Given the description of an element on the screen output the (x, y) to click on. 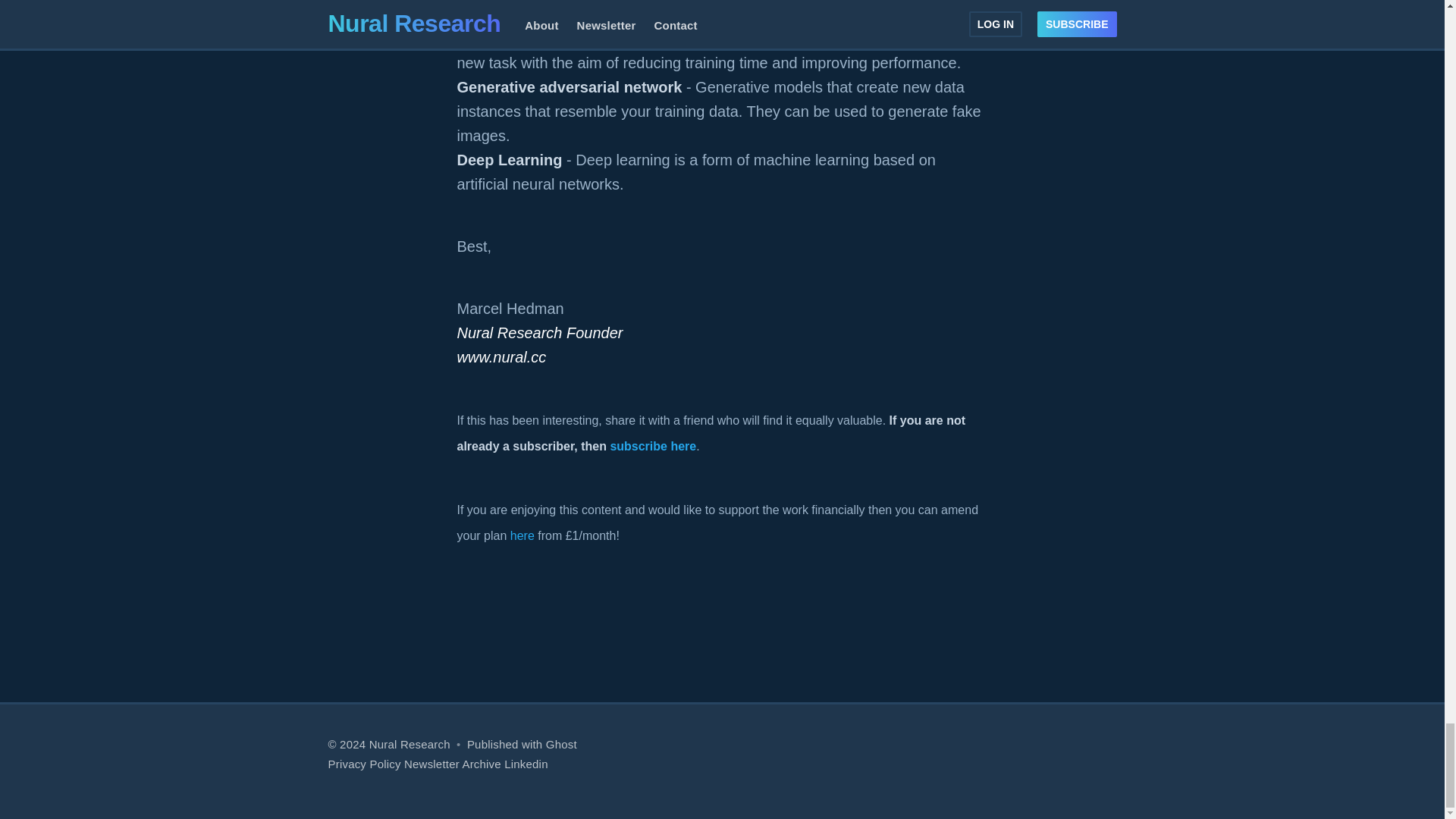
here (522, 535)
Nural Research (409, 744)
subscribe here (652, 445)
www.nural.cc (501, 356)
